Given the description of an element on the screen output the (x, y) to click on. 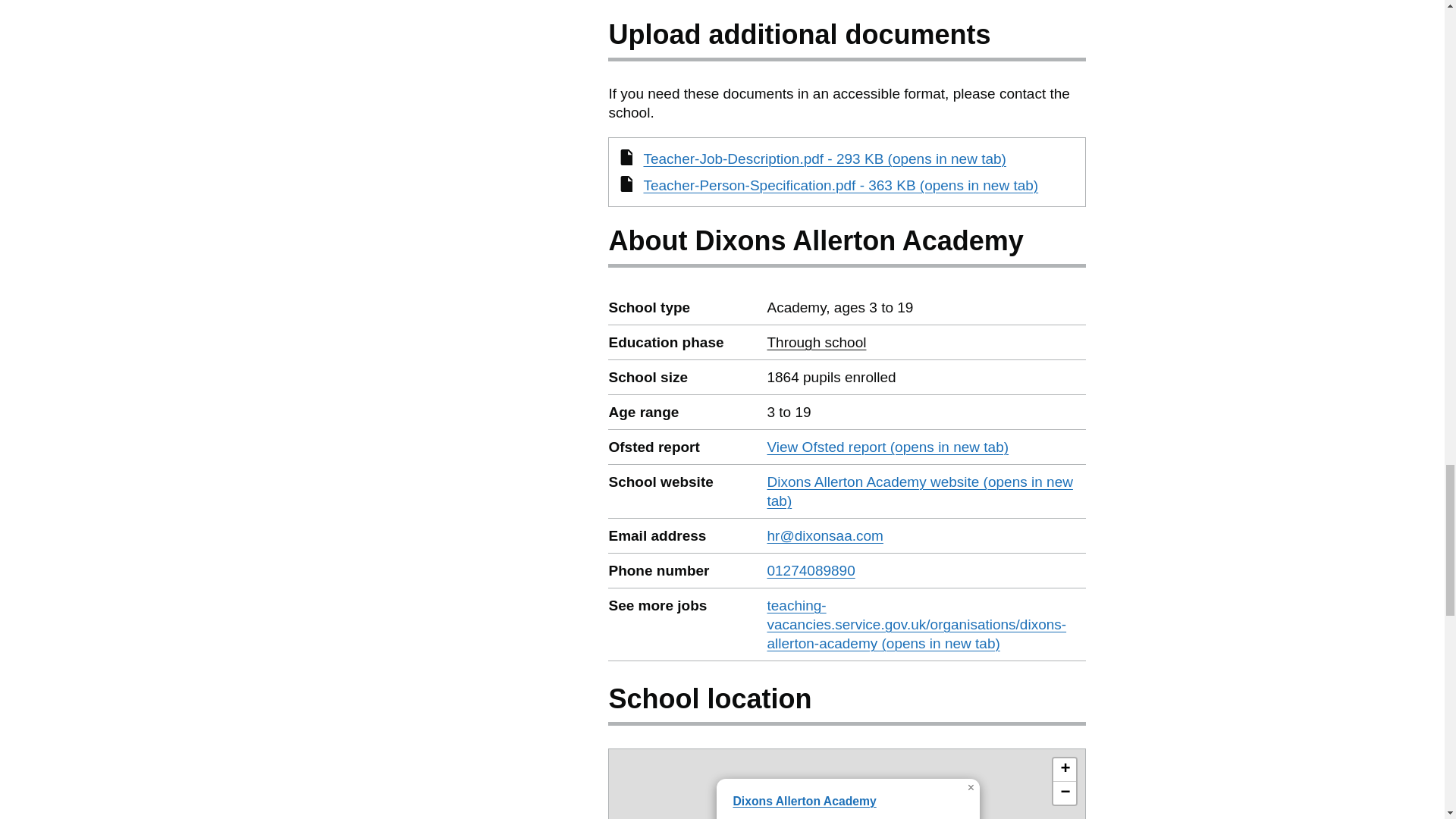
Zoom in (816, 342)
Dixons Allerton Academy (1063, 770)
01274089890 (804, 800)
Zoom out (810, 570)
